Given the description of an element on the screen output the (x, y) to click on. 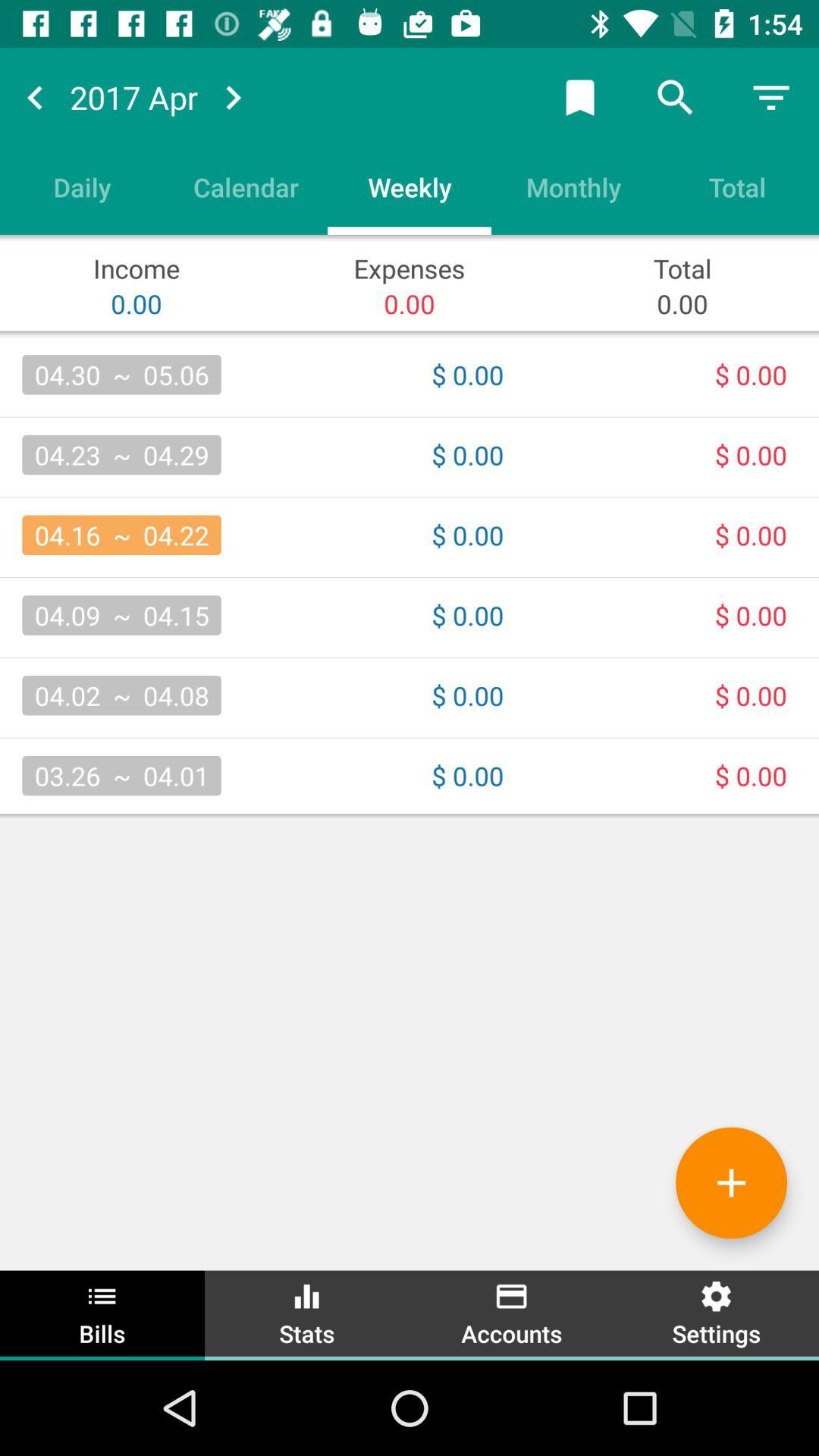
previous month (34, 97)
